Given the description of an element on the screen output the (x, y) to click on. 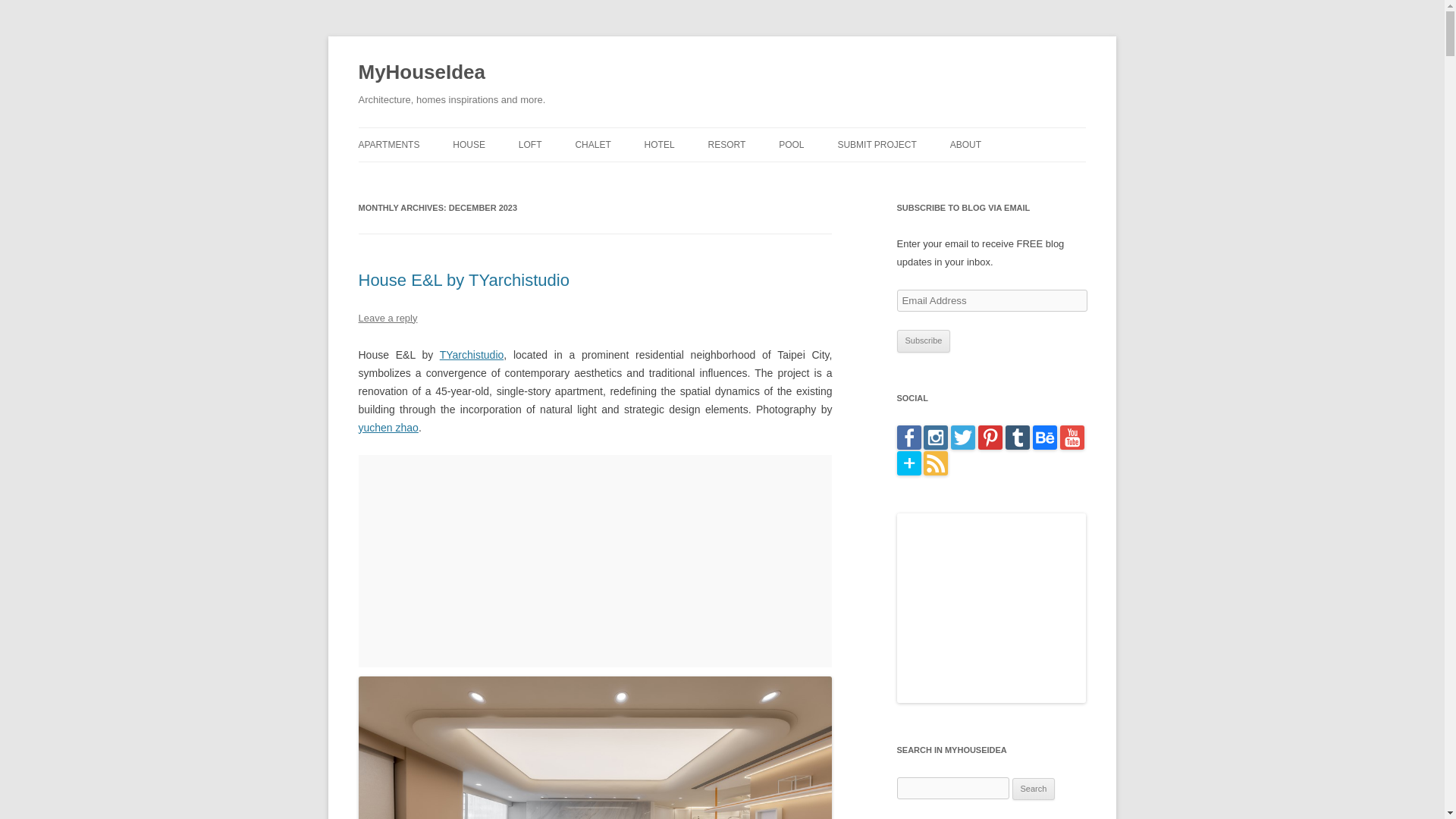
MyHouseIdea (421, 72)
HOTEL (660, 144)
Leave a reply (387, 317)
TYarchistudio (471, 354)
SUBMIT PROJECT (876, 144)
Search (1033, 789)
CHALET (592, 144)
MyHouseIdea (421, 72)
ABOUT (965, 144)
HOUSE (468, 144)
